Given the description of an element on the screen output the (x, y) to click on. 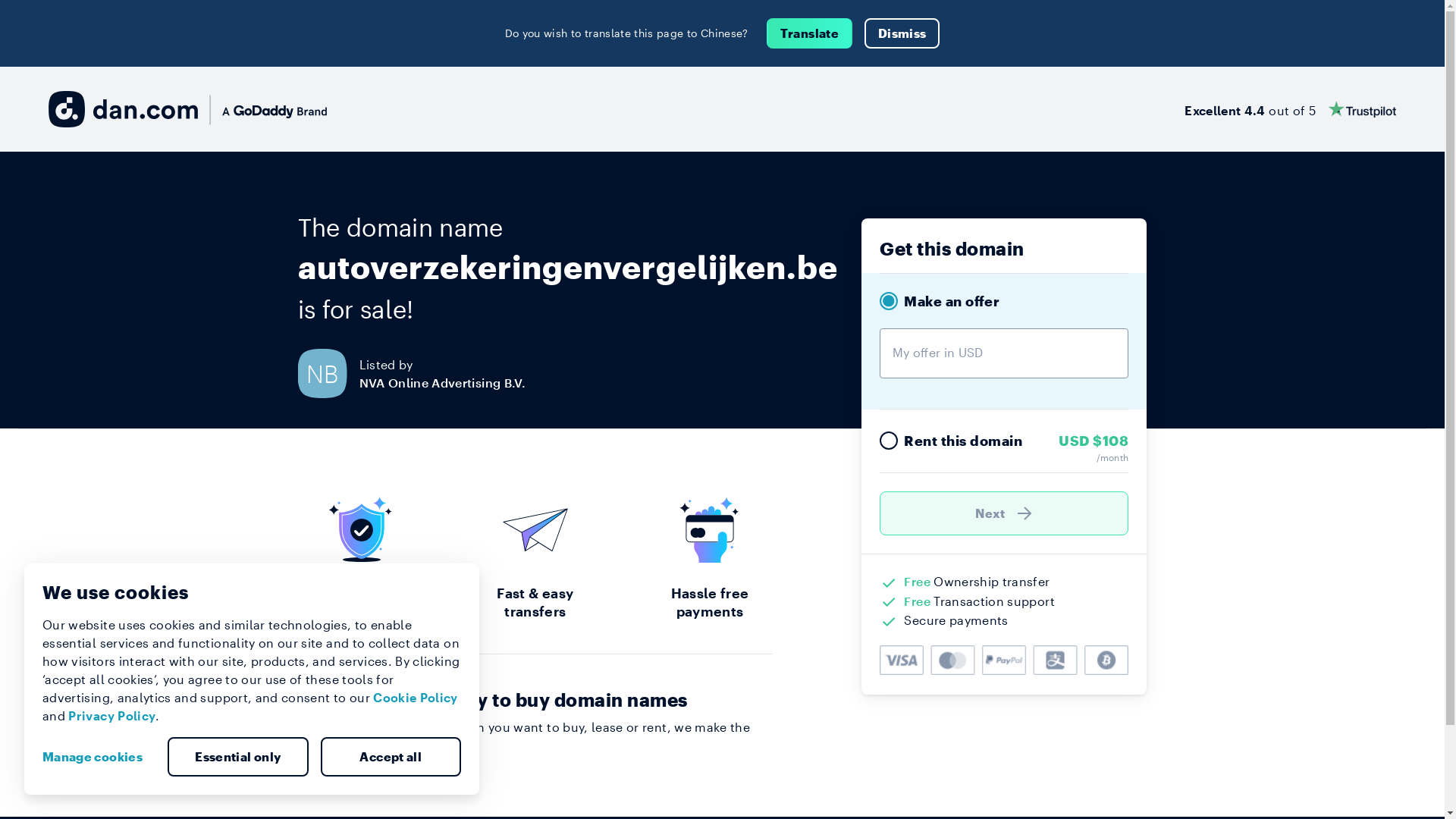
Cookie Policy Element type: text (415, 697)
Excellent 4.4 out of 5 Element type: text (1290, 109)
Translate Element type: text (809, 33)
Privacy Policy Element type: text (111, 715)
Dismiss Element type: text (901, 33)
Next
) Element type: text (1003, 513)
Essential only Element type: text (237, 756)
Accept all Element type: text (390, 756)
Manage cookies Element type: text (98, 756)
